Given the description of an element on the screen output the (x, y) to click on. 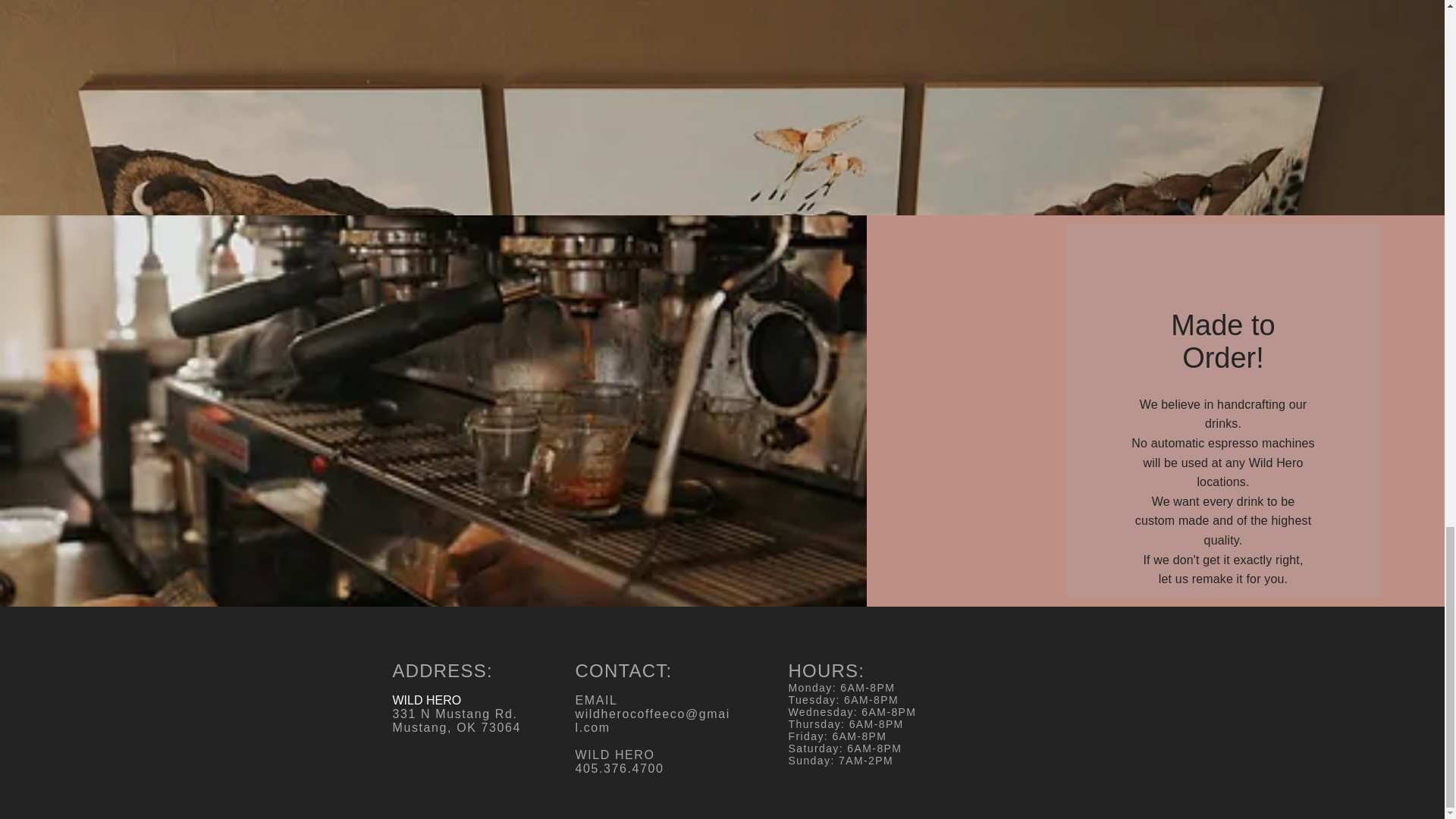
Wednesday: 6AM-8PM (853, 711)
